Given the description of an element on the screen output the (x, y) to click on. 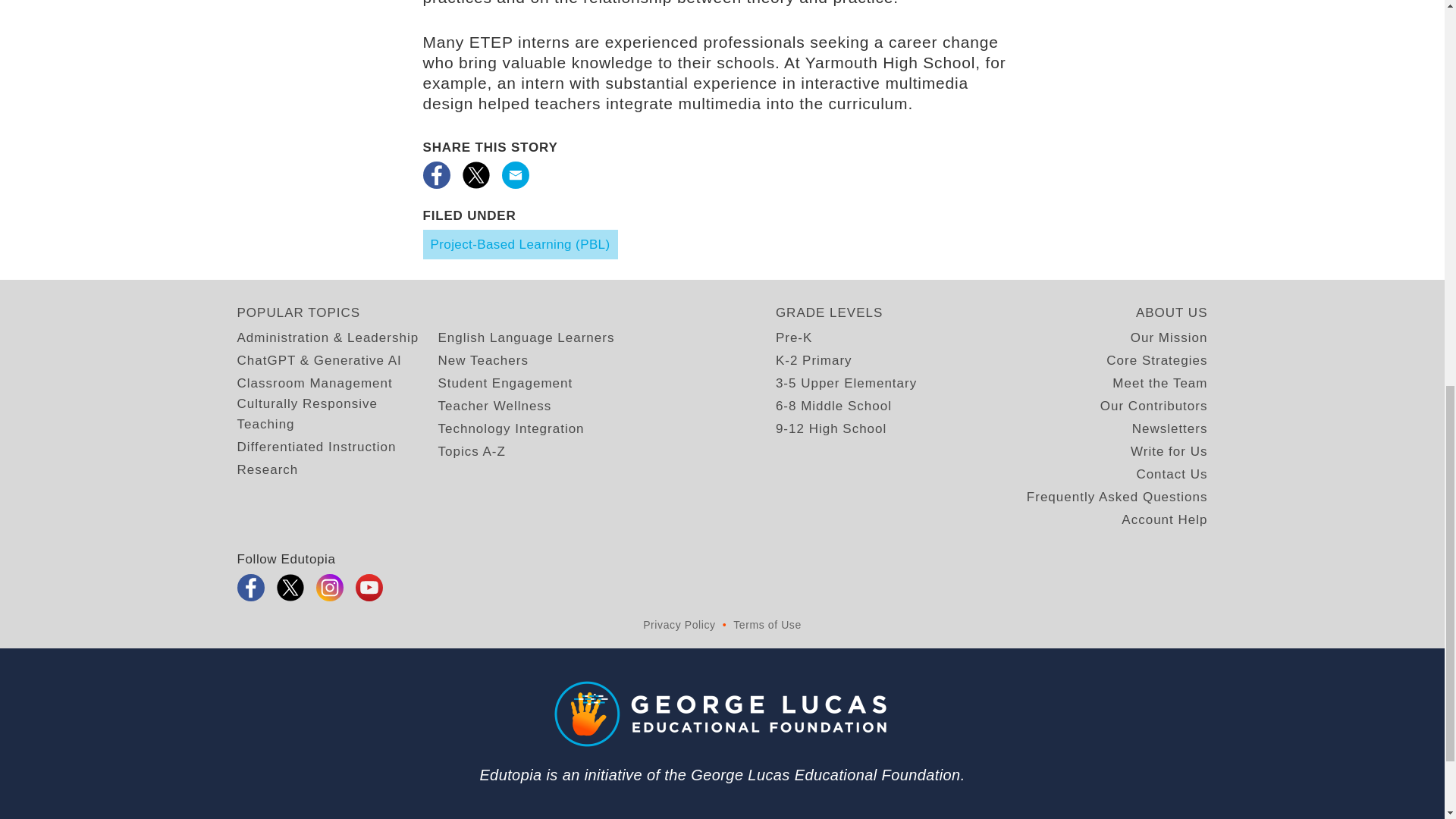
3-5 Upper Elementary (842, 295)
9-12 High School (828, 339)
English Language Learners (518, 250)
Classroom Management (309, 295)
K-2 Primary (810, 272)
Topics A-Z (469, 361)
Technology Integration (508, 339)
Student Engagement (502, 295)
Pre-K (792, 250)
Our Mission (1170, 250)
6-8 Middle School (832, 317)
Research (263, 361)
New Teachers (480, 272)
Differentiated Instruction (311, 339)
Teacher Wellness (490, 317)
